Given the description of an element on the screen output the (x, y) to click on. 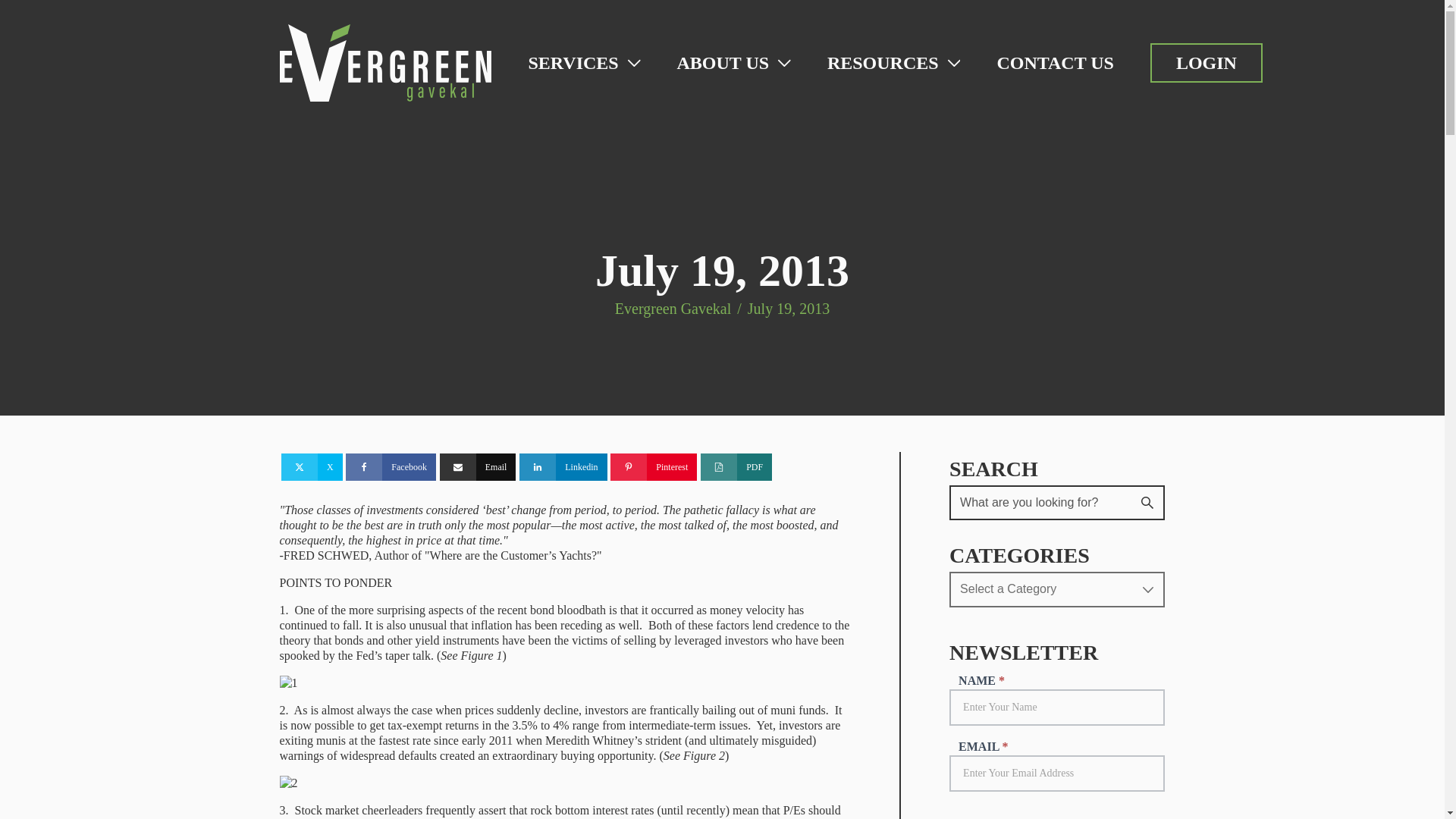
Email (477, 466)
CONTACT US (1054, 62)
PDF (735, 466)
Linkedin (563, 466)
ABOUT US (733, 62)
SERVICES (583, 62)
LOGIN (1205, 63)
X (311, 466)
Facebook (390, 466)
RESOURCES (893, 62)
